Given the description of an element on the screen output the (x, y) to click on. 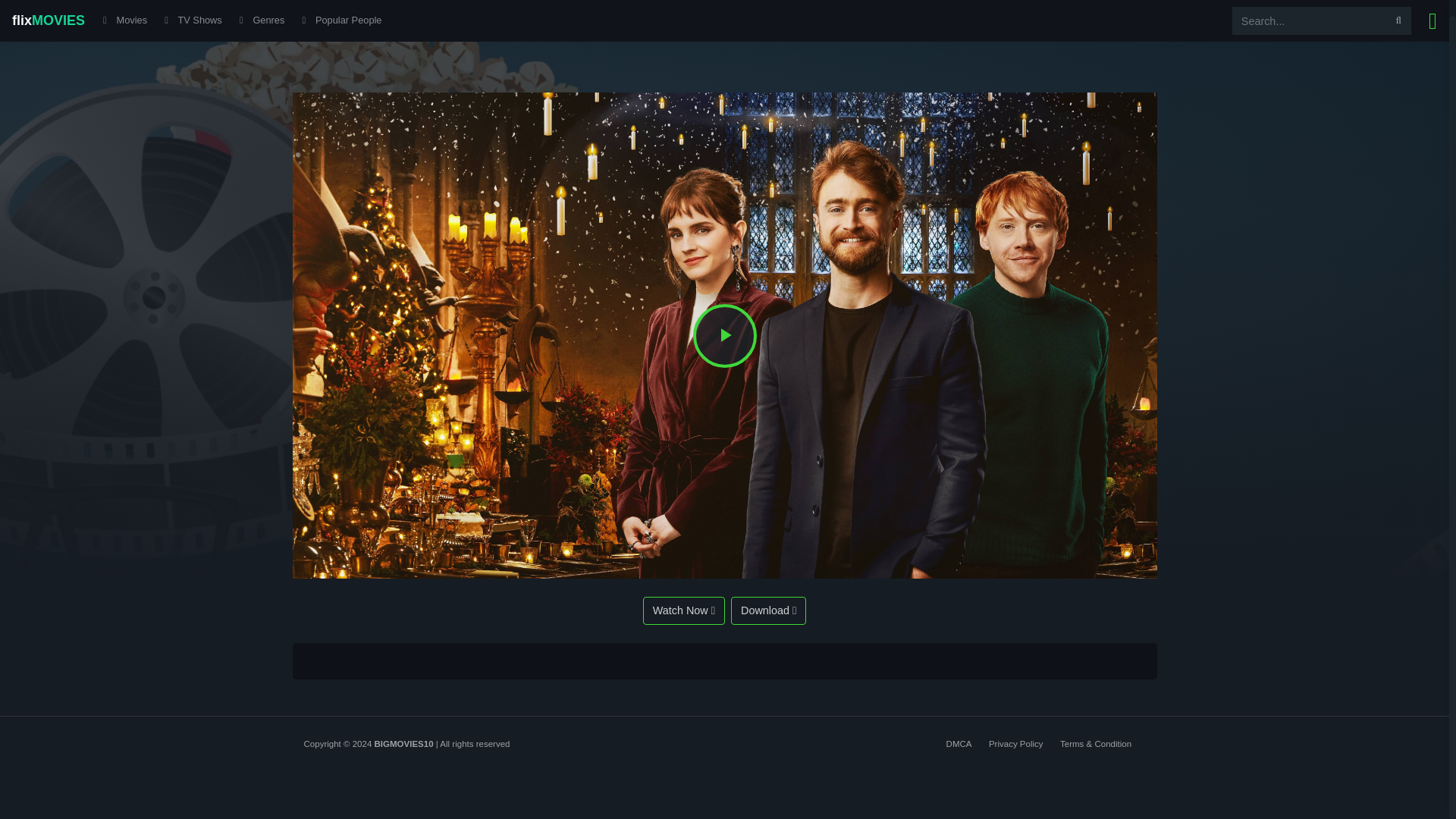
Download (768, 610)
Play Video (725, 335)
Play Video (725, 335)
Watch Now (684, 610)
